Given the description of an element on the screen output the (x, y) to click on. 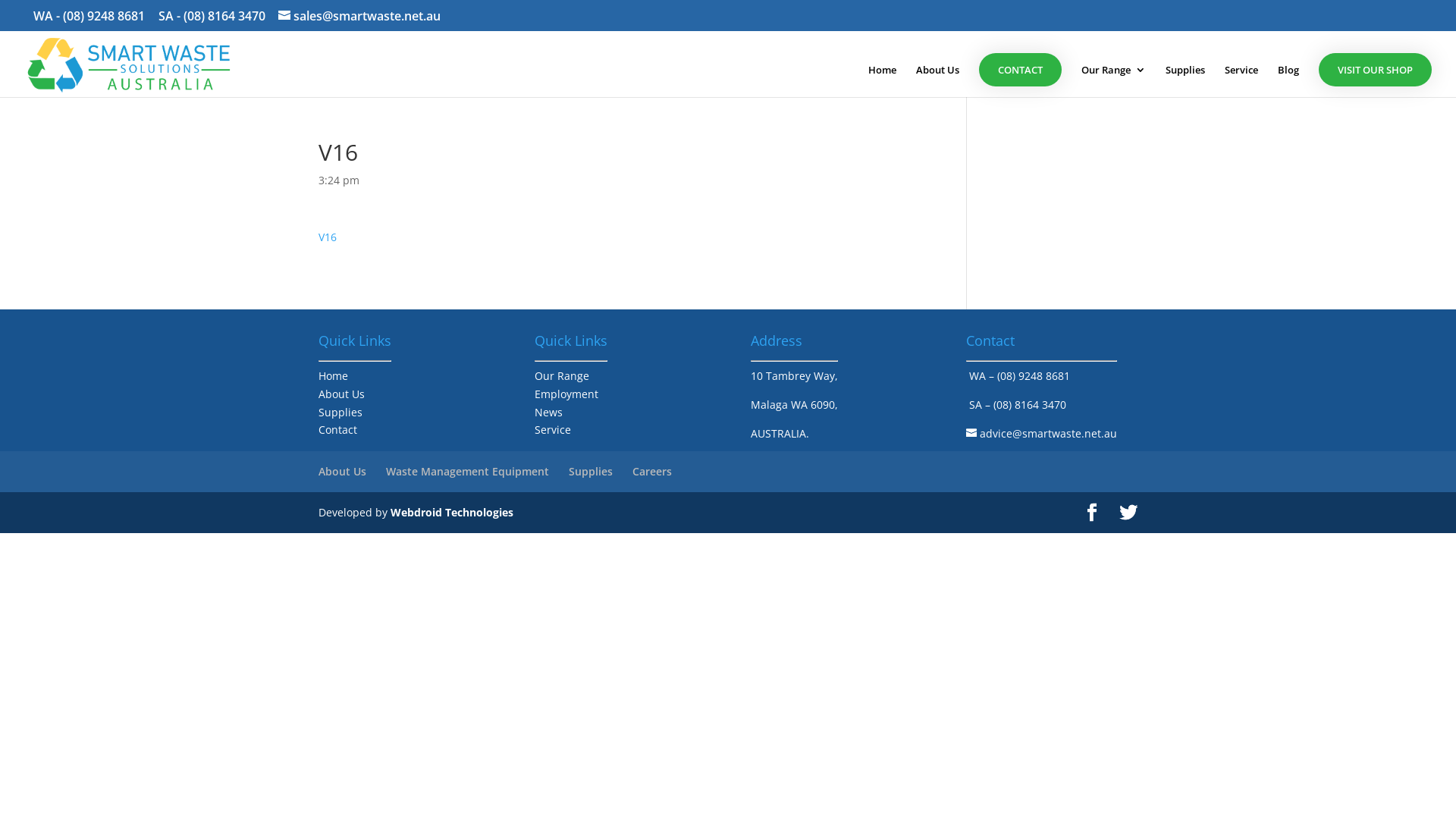
sales@smartwaste.net.au Element type: text (359, 15)
Blog Element type: text (1288, 80)
News Element type: text (548, 411)
Our Range Element type: text (1113, 80)
About Us Element type: text (937, 80)
V16 Element type: text (327, 236)
Waste Management Equipment Element type: text (467, 471)
Home Element type: text (333, 375)
Service Element type: text (1241, 80)
Contact Element type: text (337, 429)
Home Element type: text (882, 80)
About Us Element type: text (341, 393)
Careers Element type: text (651, 471)
Service Element type: text (552, 429)
Supplies Element type: text (340, 411)
CONTACT Element type: text (1020, 69)
Supplies Element type: text (590, 471)
advice@smartwaste.net.au Element type: text (1041, 433)
Webdroid Technologies Element type: text (451, 512)
Supplies Element type: text (1184, 80)
About Us Element type: text (342, 471)
Our Range Element type: text (561, 375)
Employment Element type: text (566, 393)
VISIT OUR SHOP Element type: text (1374, 69)
